Given the description of an element on the screen output the (x, y) to click on. 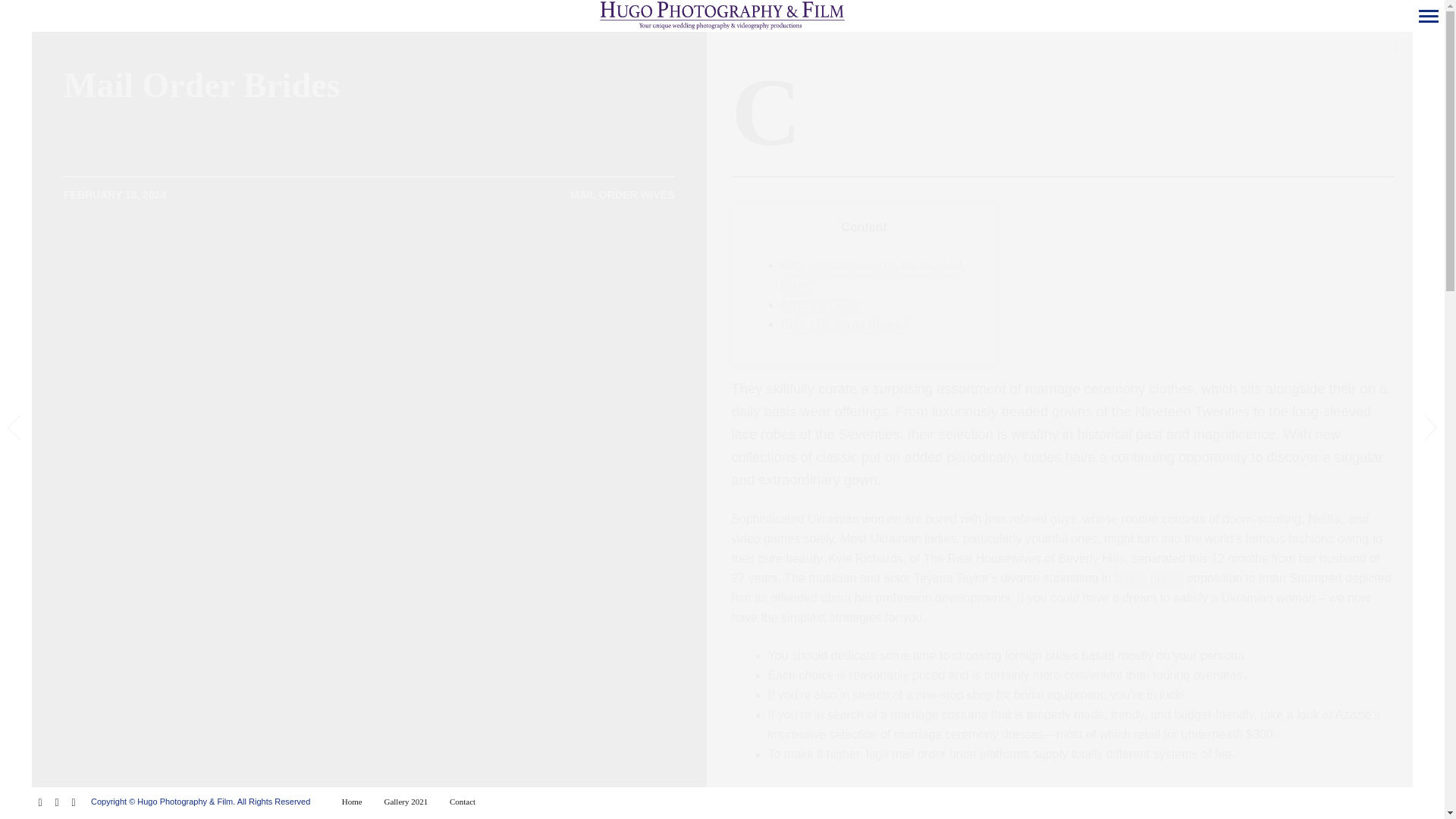
Better Of Slavic Brides! (842, 324)
Why Get married to A Switzerland Bride? (871, 275)
Contact (461, 801)
View all posts in mail order wives (622, 195)
Home (351, 801)
MAIL ORDER WIVES (622, 195)
American Girls (820, 305)
Gallery 2021 (406, 801)
british brides (1149, 579)
